Given the description of an element on the screen output the (x, y) to click on. 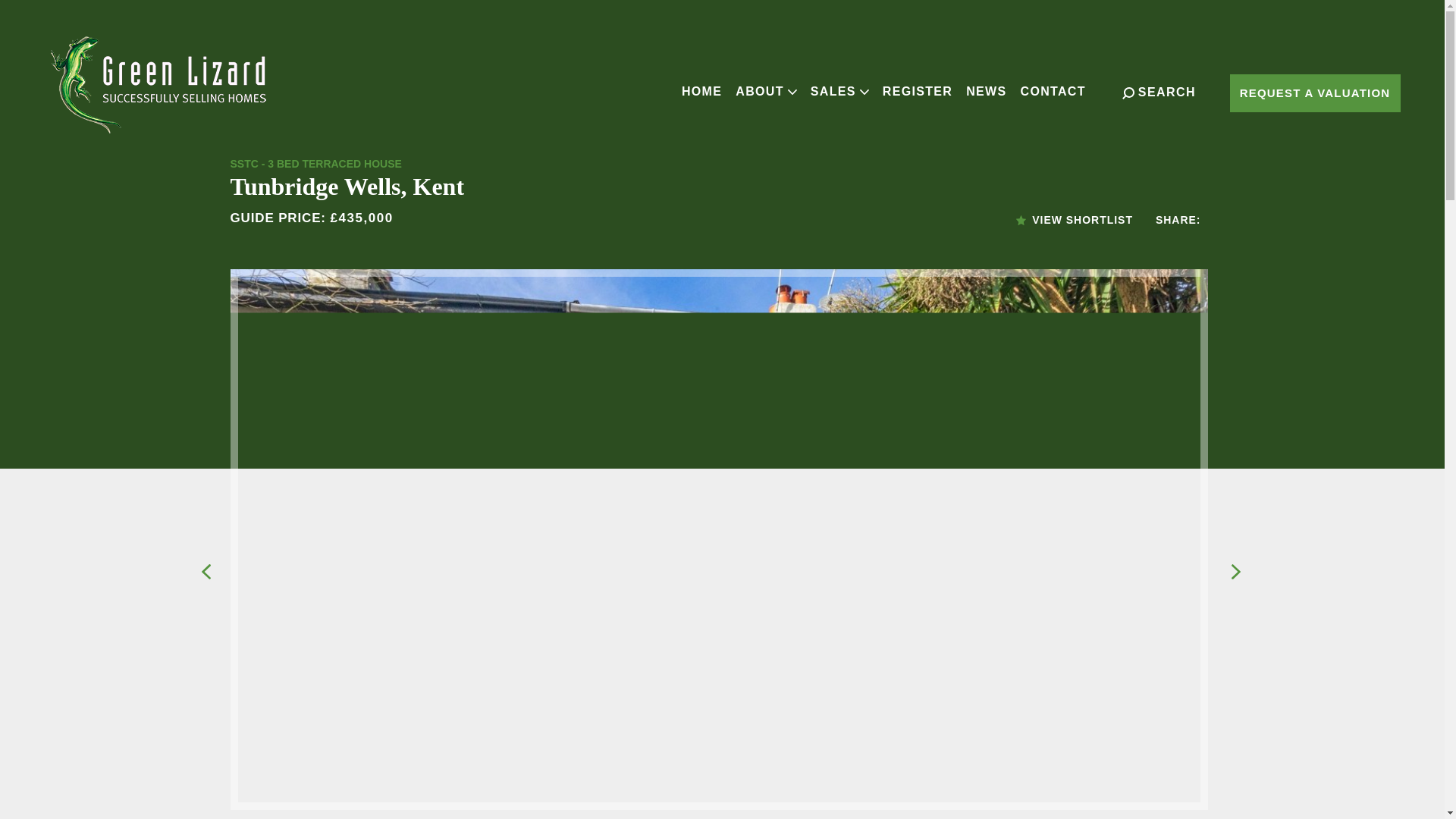
ABOUT (766, 91)
SALES (839, 91)
REGISTER (917, 91)
NEWS (986, 91)
VIEW SHORTLIST (1074, 219)
HOME (701, 91)
SEARCH (1158, 92)
REQUEST A VALUATION (1315, 93)
CONTACT (1052, 91)
